Given the description of an element on the screen output the (x, y) to click on. 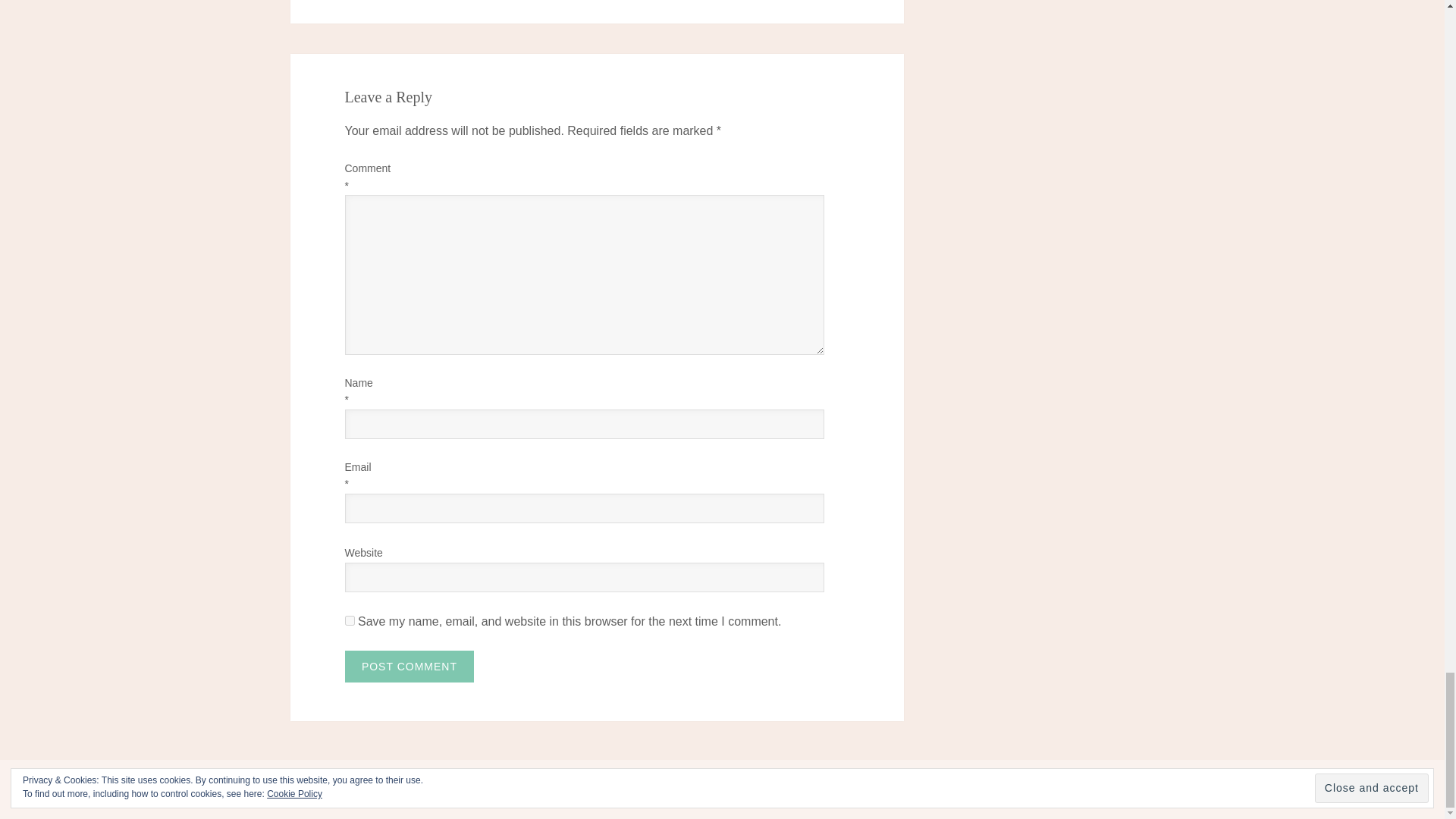
Post Comment (408, 666)
Post Comment (408, 666)
yes (348, 620)
CRESTAPROJECT (678, 781)
PROUDLY POWERED BY WORDPRESS (392, 781)
